Given the description of an element on the screen output the (x, y) to click on. 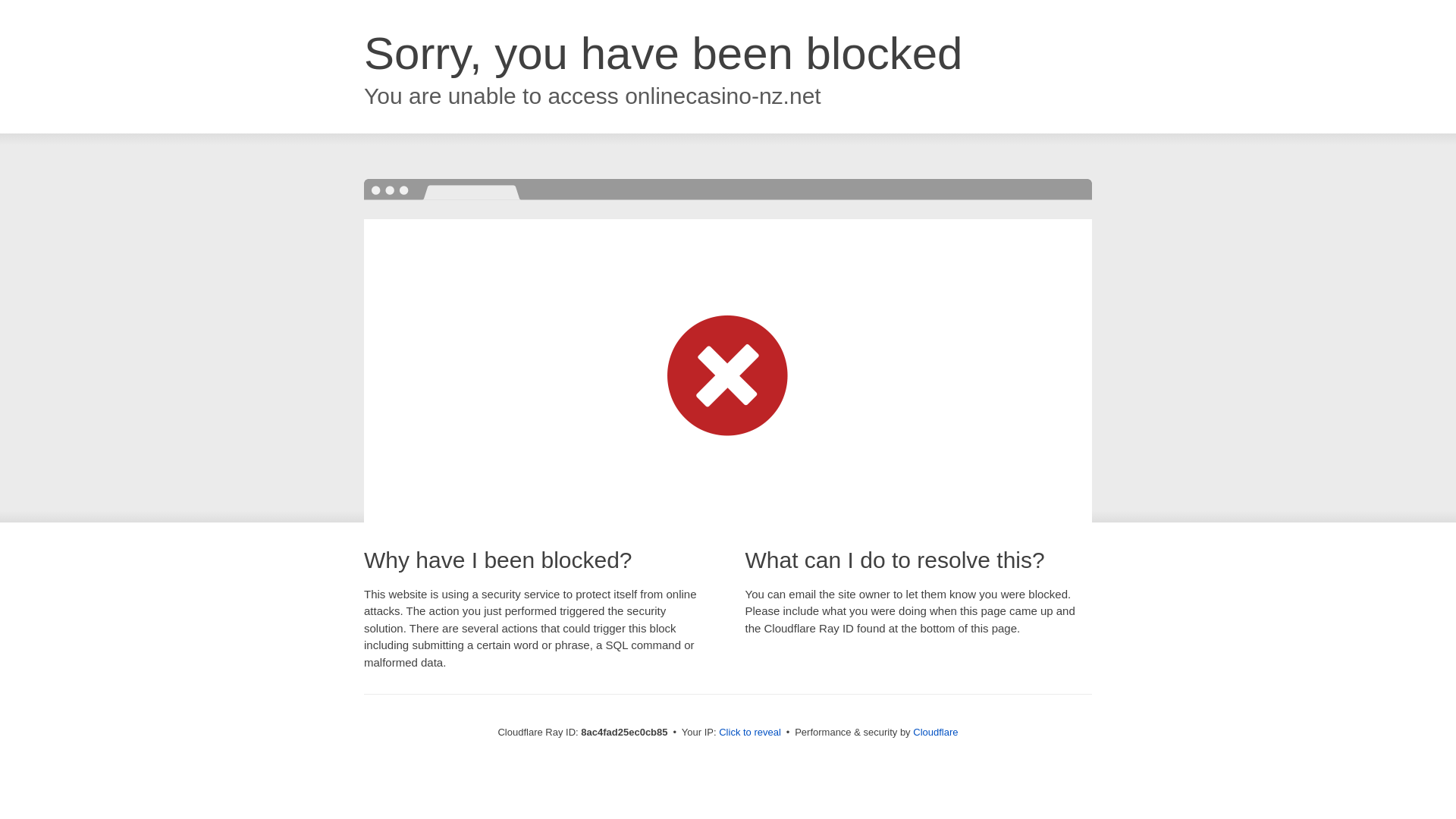
Cloudflare (935, 731)
Click to reveal (749, 732)
